Given the description of an element on the screen output the (x, y) to click on. 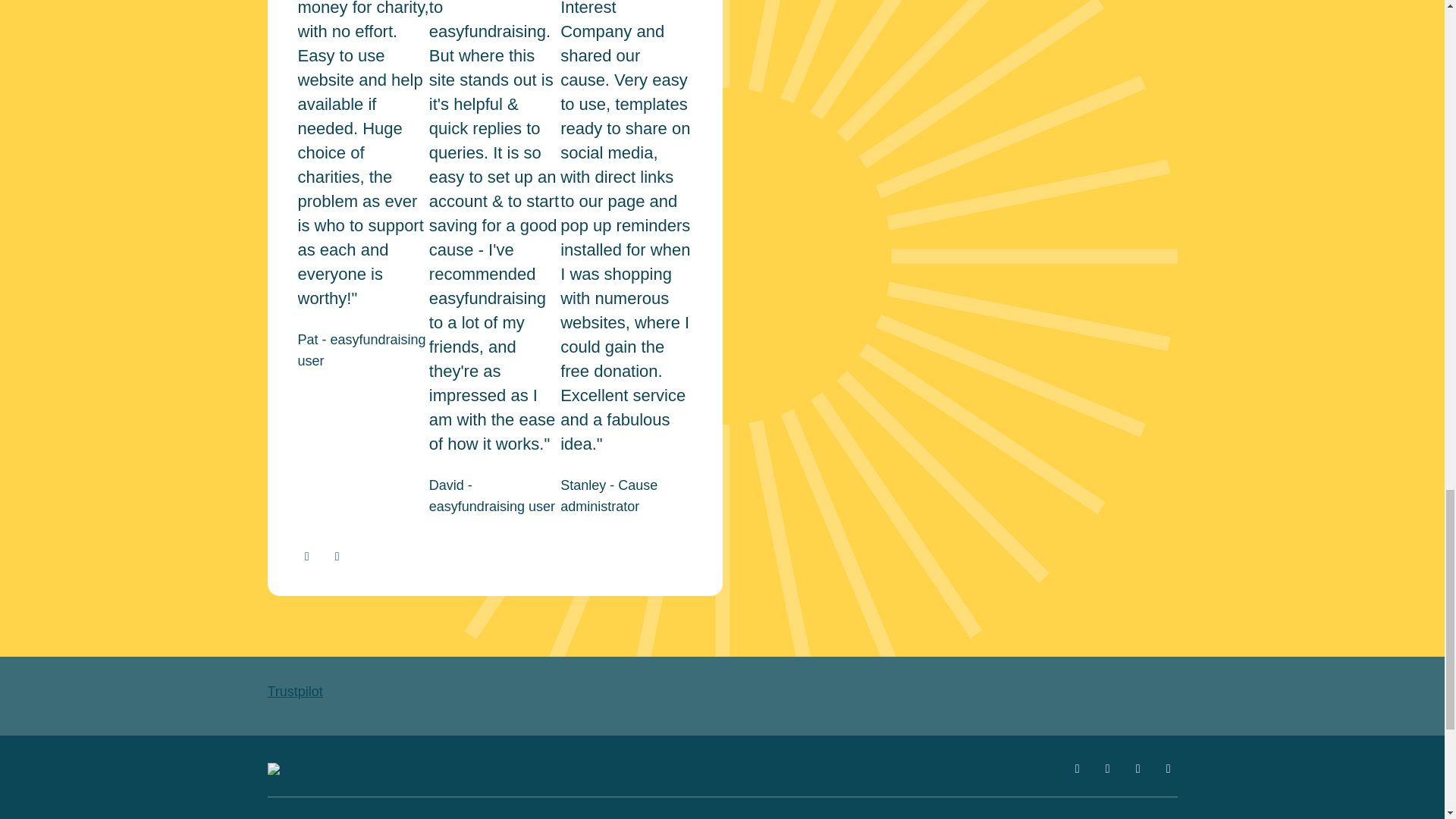
About (976, 817)
Trustpilot (293, 691)
Policies (769, 817)
Resources (562, 817)
Get donations (355, 817)
